Given the description of an element on the screen output the (x, y) to click on. 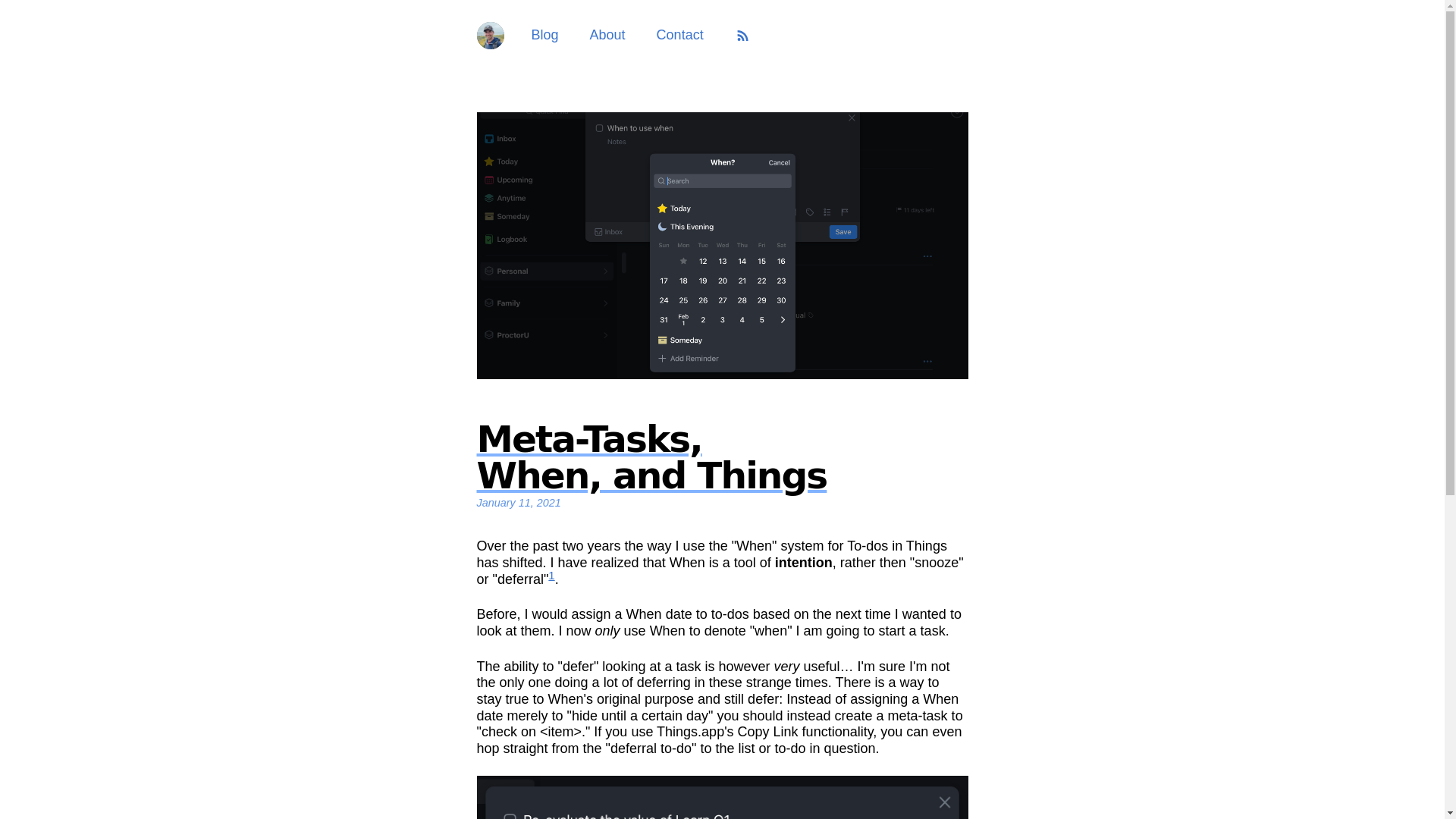
Blog (544, 35)
Contact (722, 465)
About (680, 35)
